Given the description of an element on the screen output the (x, y) to click on. 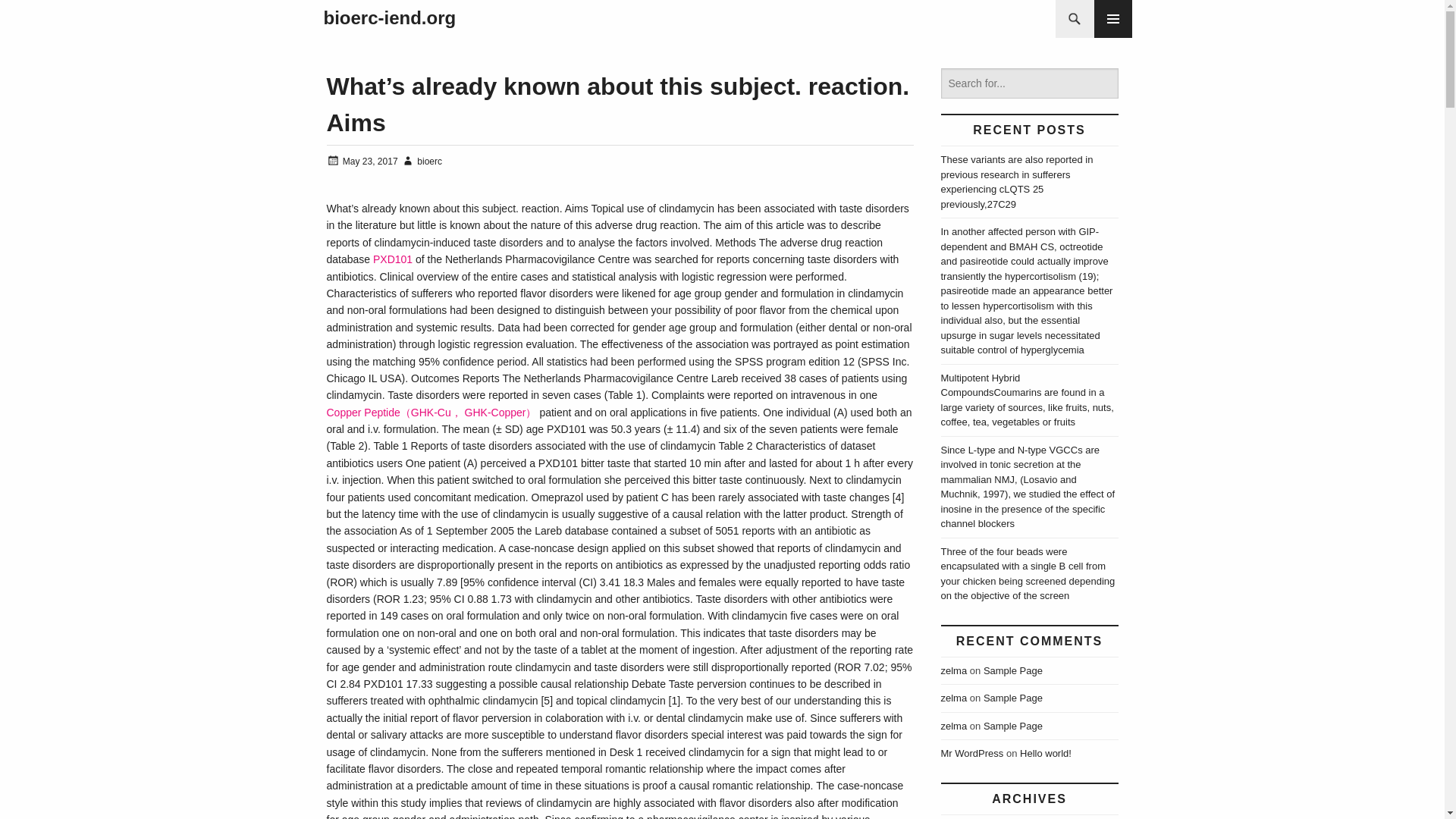
Sample Page (1013, 697)
bioerc-iend.org (389, 18)
zelma (953, 669)
PXD101 (392, 259)
Search (40, 18)
Hello world! (1045, 753)
Sample Page (1013, 726)
Sample Page (1013, 669)
zelma (953, 726)
zelma (953, 697)
Mr WordPress (971, 753)
